Given the description of an element on the screen output the (x, y) to click on. 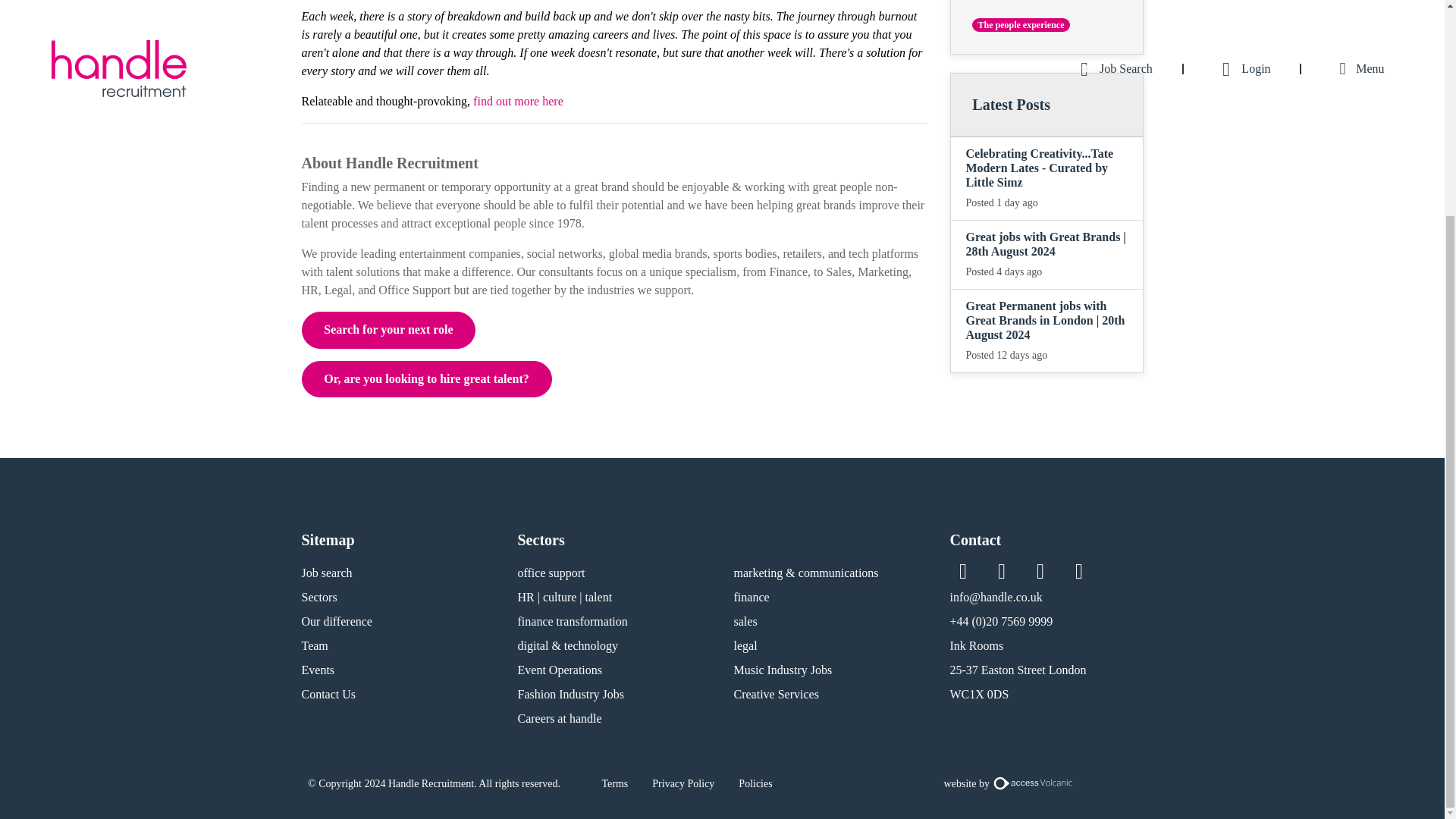
HR (309, 289)
find out more here (518, 101)
Office Support (413, 289)
Marketing (882, 271)
Or, are you looking to hire great talent? (426, 379)
Legal (338, 289)
Search for your next role (388, 330)
Sales (839, 271)
Finance (788, 271)
